Given the description of an element on the screen output the (x, y) to click on. 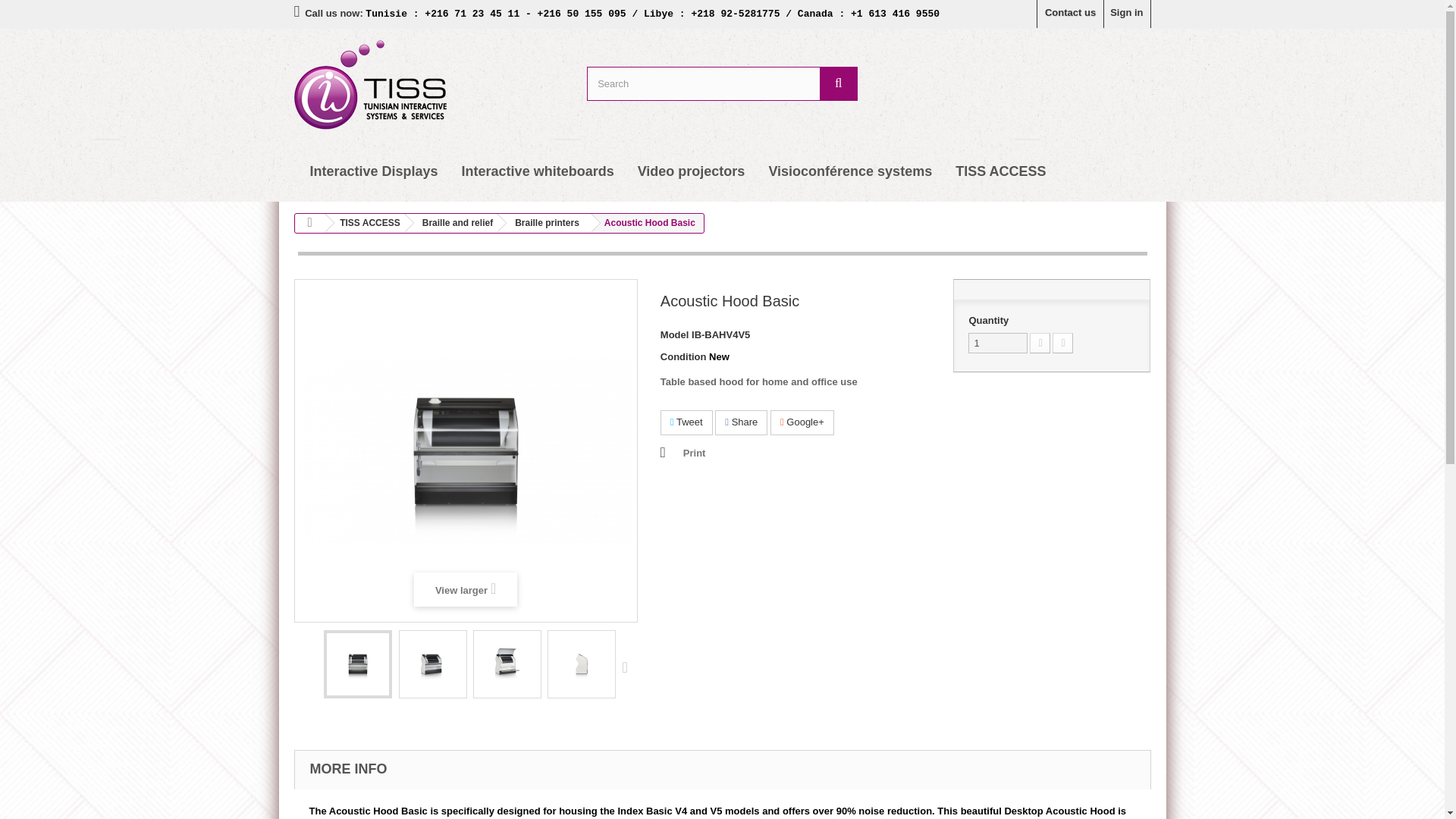
TISS ACCESS (999, 170)
Braille and relief (454, 222)
Interactive Displays (373, 170)
Sign in (1126, 13)
Interactive whiteboards  (537, 170)
1 (997, 342)
TISS ACCESS (367, 222)
Video projectors  (691, 170)
Log in to your customer account (1126, 13)
TISS (429, 85)
Interactive whiteboards (537, 170)
Contact us (1069, 13)
Interactive Displays (373, 170)
Contact Us (1069, 13)
Video projectors (691, 170)
